Given the description of an element on the screen output the (x, y) to click on. 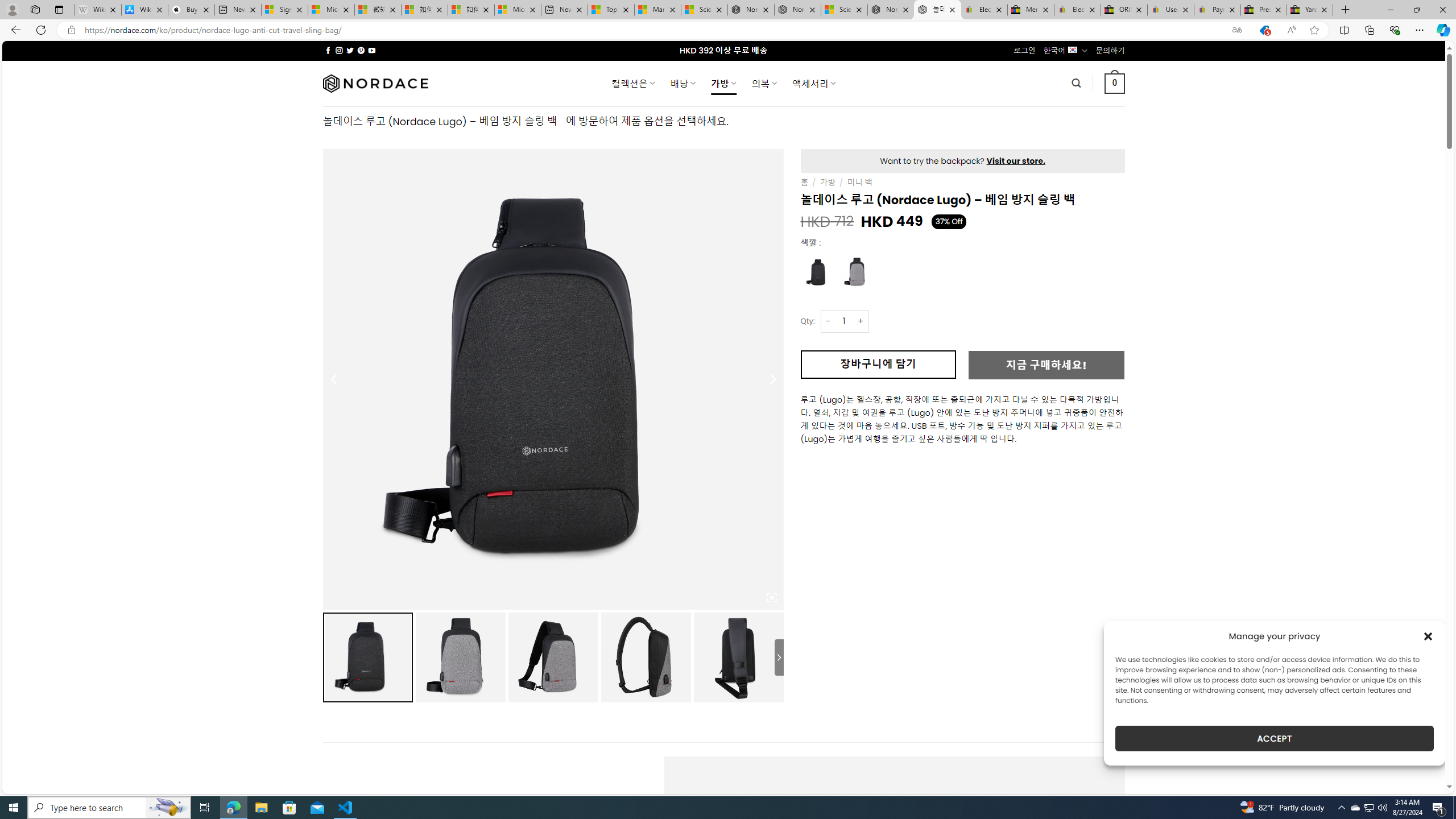
Follow on YouTube (371, 50)
Follow on Pinterest (360, 50)
Electronics, Cars, Fashion, Collectibles & More | eBay (1077, 9)
Follow on Twitter (349, 50)
